Given the description of an element on the screen output the (x, y) to click on. 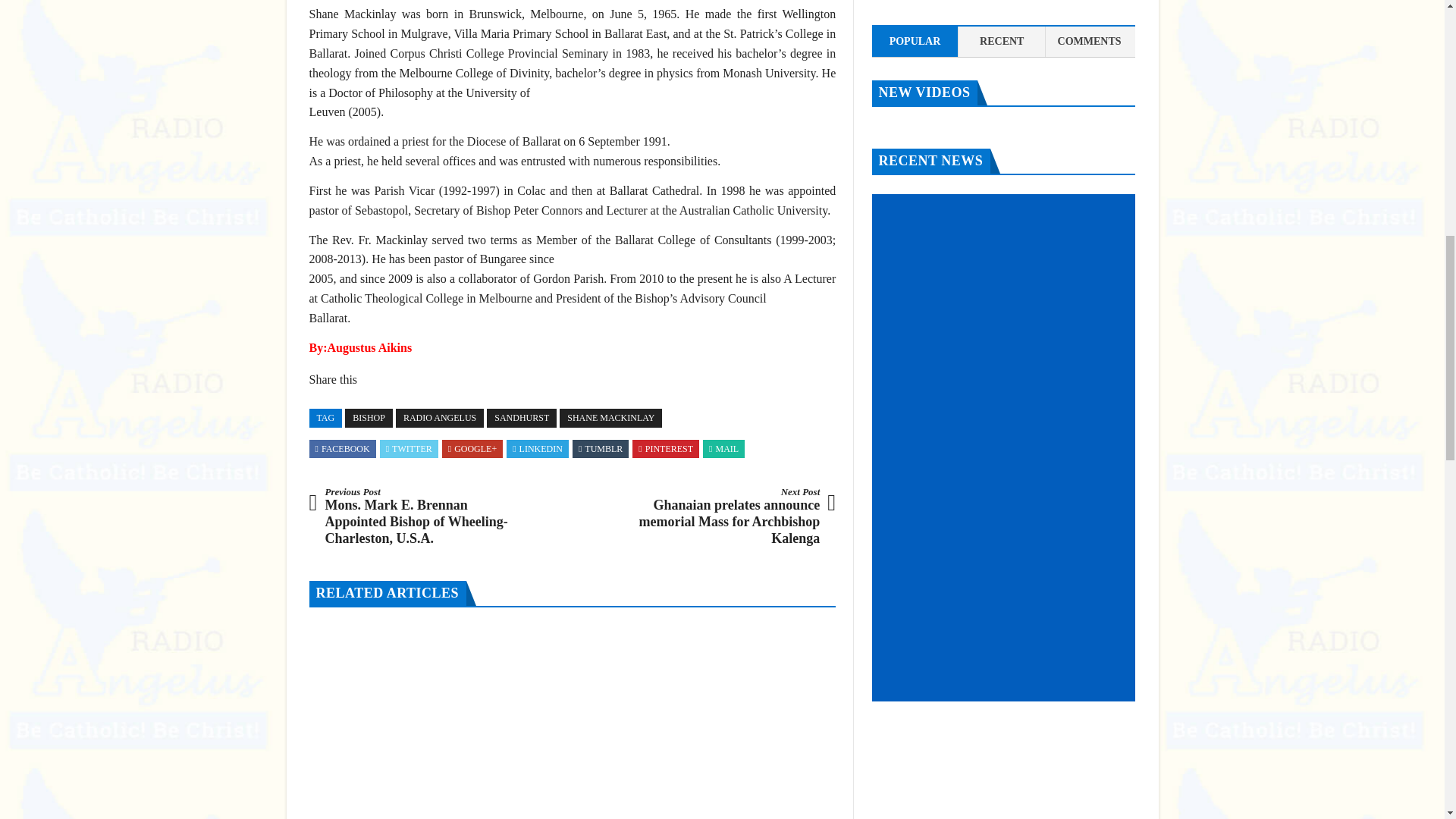
Google Plus (472, 448)
Facebook (342, 448)
Mail (723, 448)
LinkedIn (537, 448)
Tumblr (600, 448)
Pinterest (666, 448)
Twitter (408, 448)
